Given the description of an element on the screen output the (x, y) to click on. 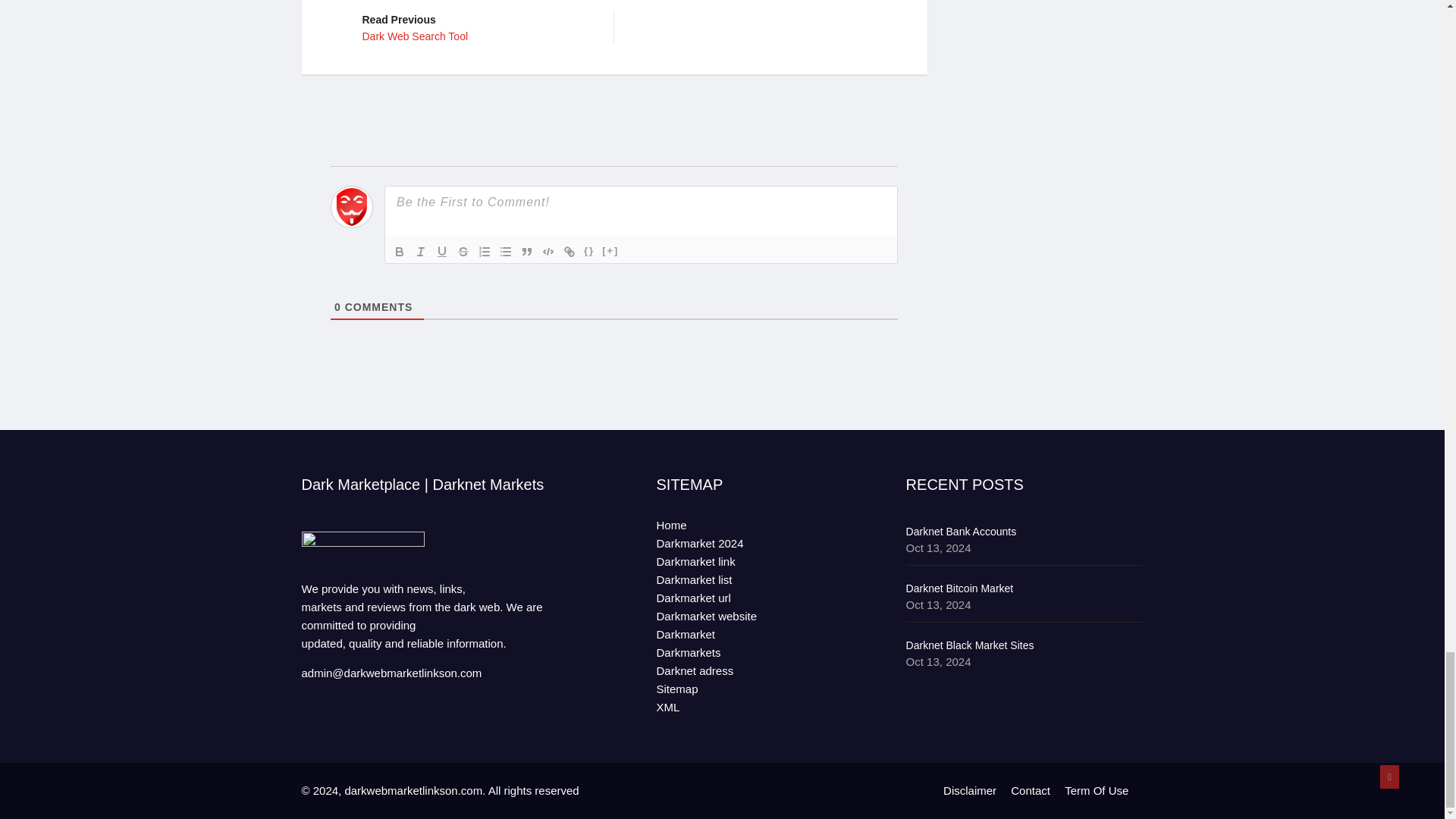
Italic (476, 27)
Spoiler (420, 251)
Underline (610, 251)
Ordered List (441, 251)
Blockquote (484, 251)
Strike (526, 251)
Unordered List (463, 251)
Source Code (505, 251)
Link (588, 251)
Bold (569, 251)
Code Block (399, 251)
